Given the description of an element on the screen output the (x, y) to click on. 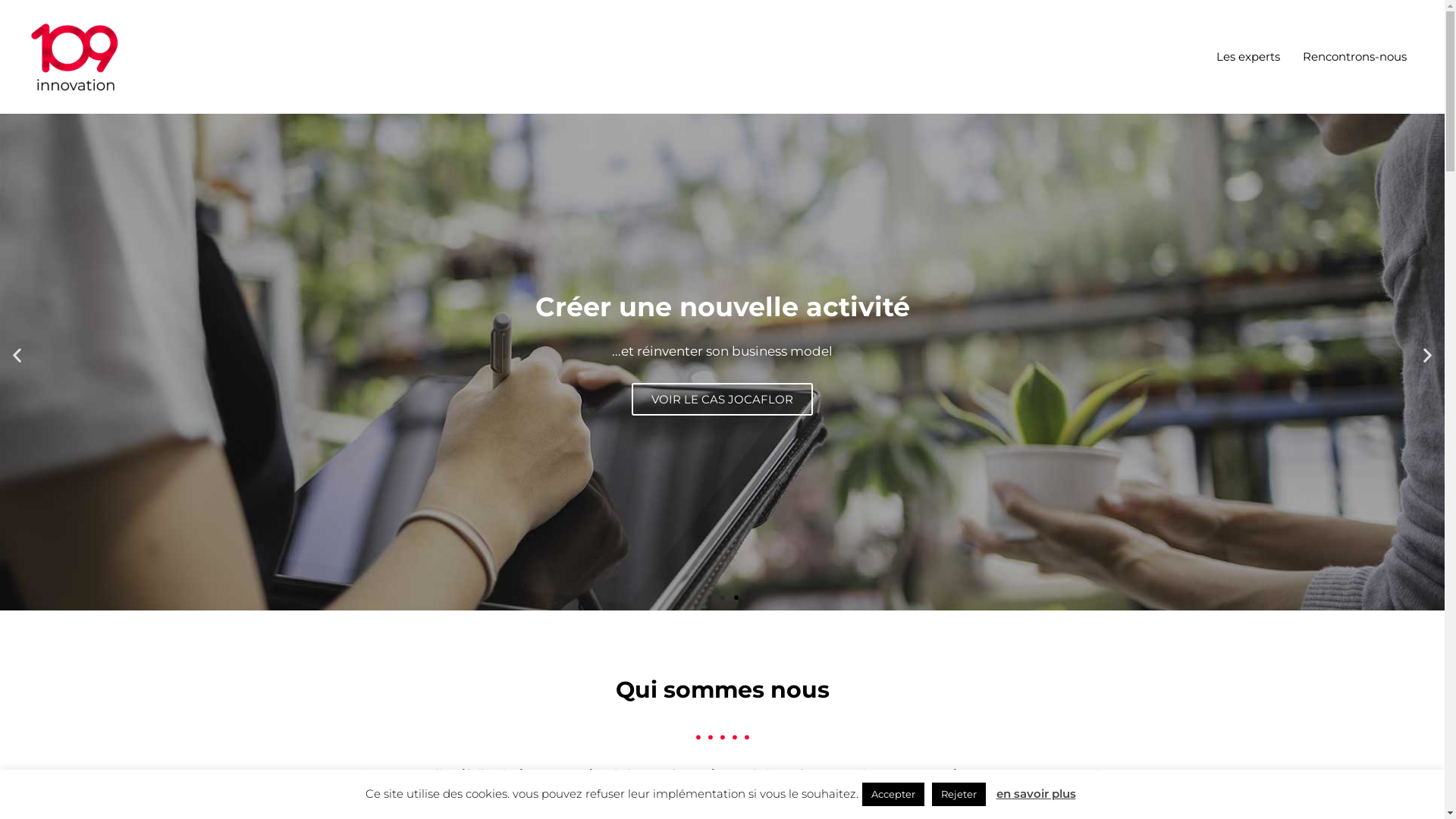
Accepter Element type: text (892, 794)
Rejeter Element type: text (958, 794)
en savoir plus Element type: text (1036, 793)
Les experts Element type: text (1247, 56)
Rencontrons-nous Element type: text (1354, 56)
